Given the description of an element on the screen output the (x, y) to click on. 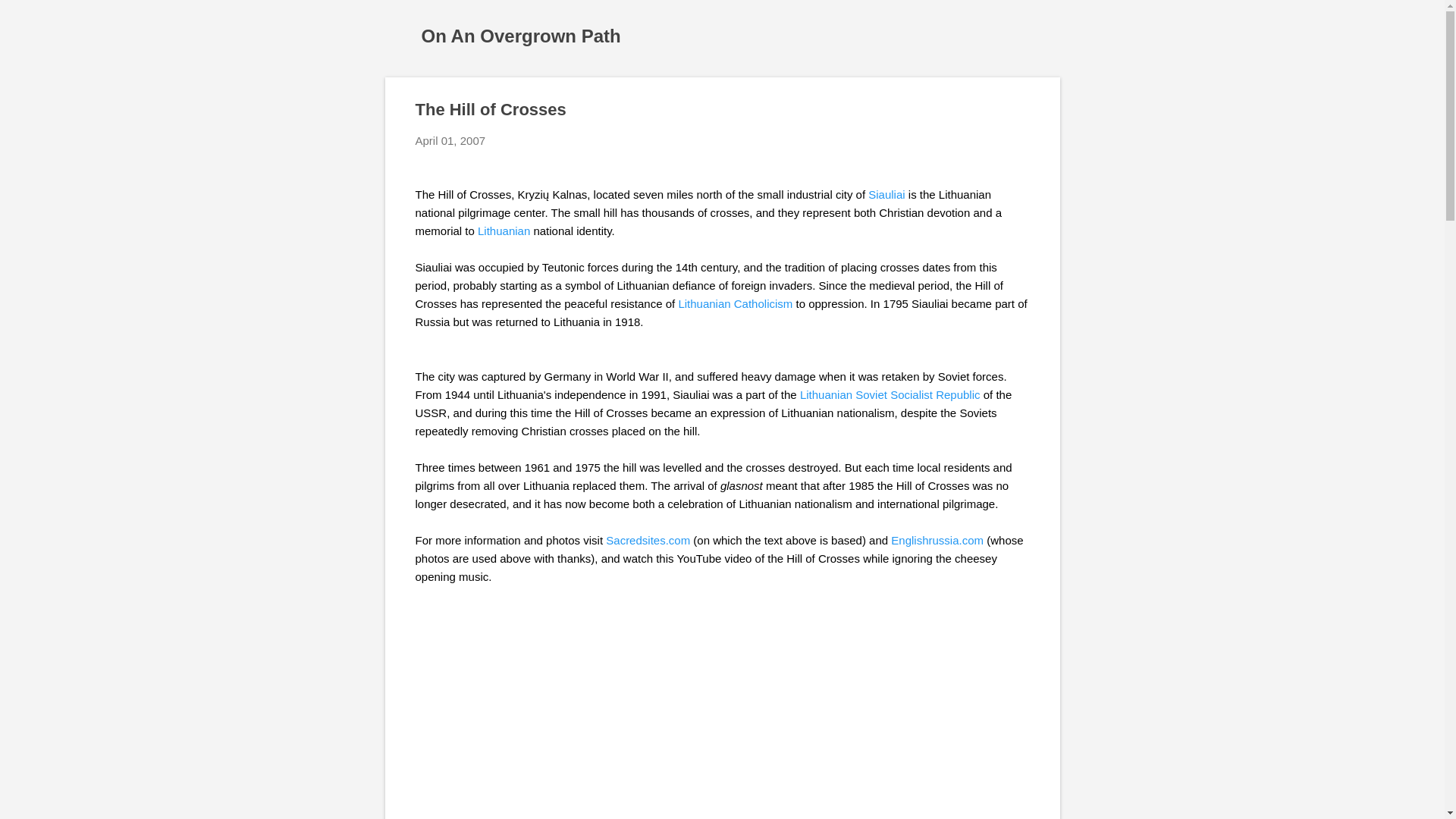
Englishrussia.com (937, 540)
Siauliai (885, 194)
permanent link (450, 140)
On An Overgrown Path (521, 35)
Search (29, 18)
Lithuanian (503, 230)
Sacredsites.com (647, 540)
April 01, 2007 (450, 140)
Lithuanian Catholicism (735, 303)
Lithuanian Soviet Socialist Republic (889, 394)
